Given the description of an element on the screen output the (x, y) to click on. 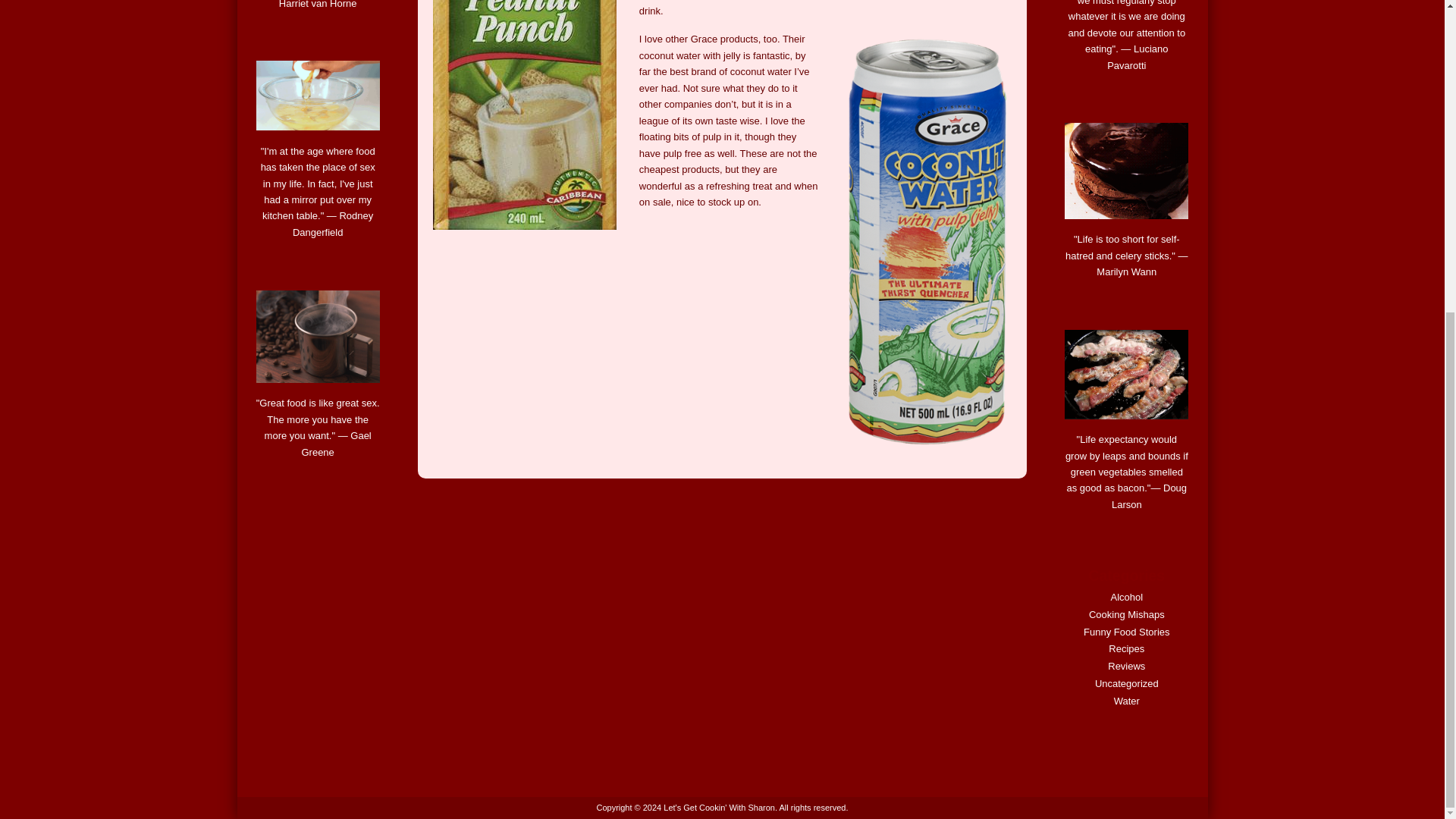
Cooking Mishaps (1126, 614)
Water (1126, 700)
Funny Food Stories (1126, 632)
Alcohol (1125, 596)
Reviews (1126, 665)
Recipes (1126, 648)
Uncategorized (1126, 683)
